Given the description of an element on the screen output the (x, y) to click on. 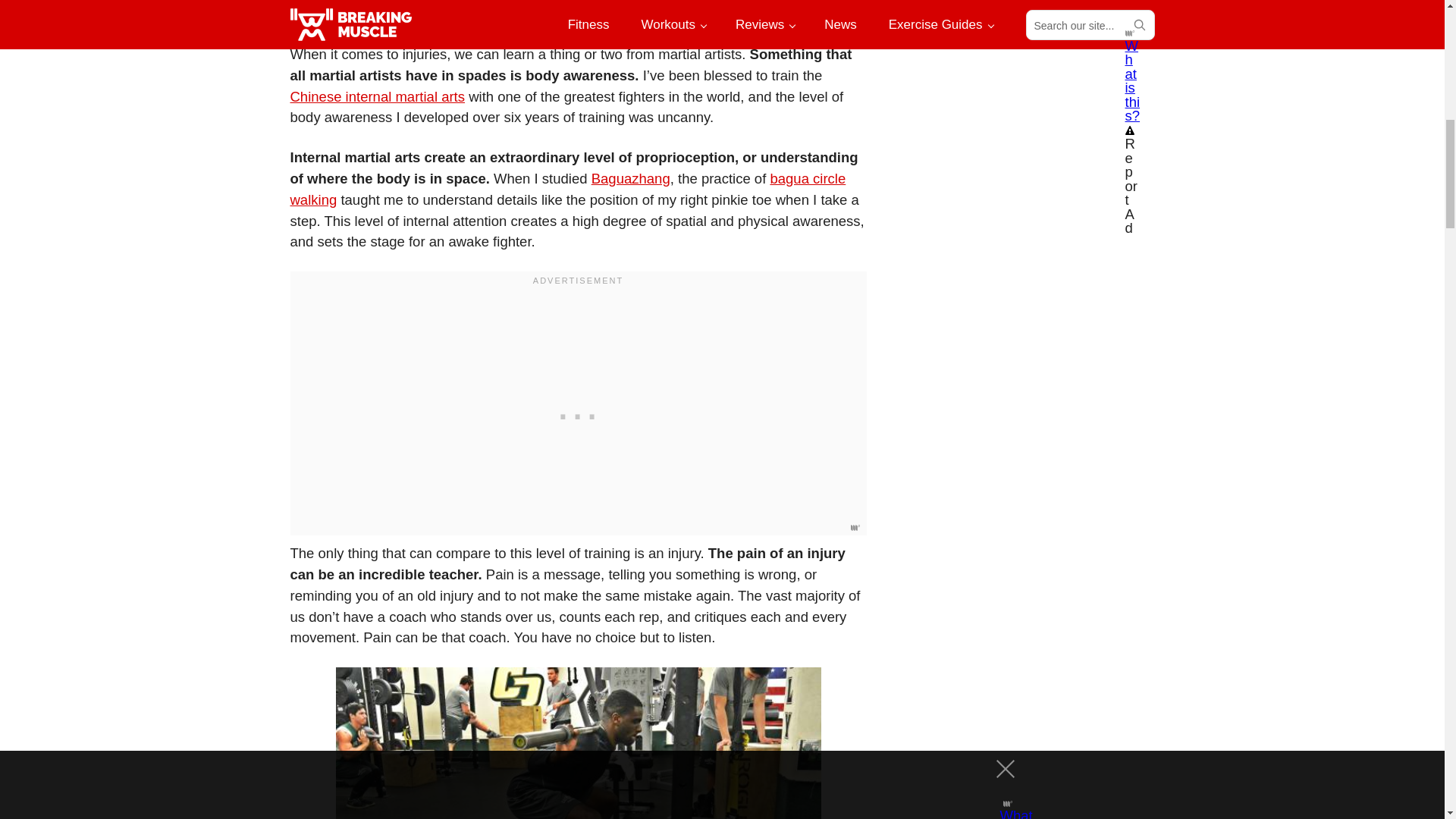
light squat for rehab (577, 743)
3rd party ad content (1026, 12)
3rd party ad content (577, 412)
